Given the description of an element on the screen output the (x, y) to click on. 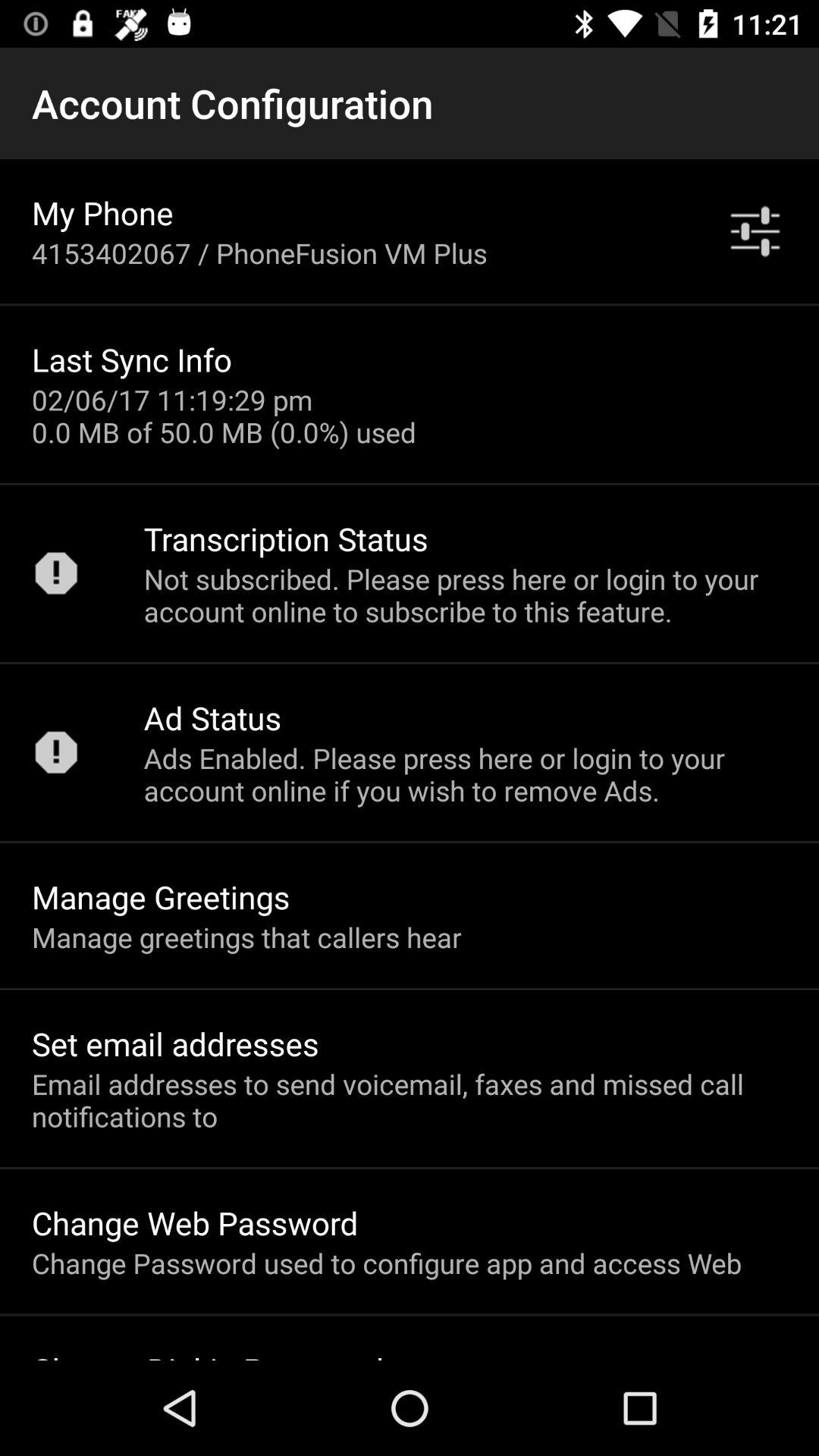
launch the item below not subscribed please (212, 717)
